Given the description of an element on the screen output the (x, y) to click on. 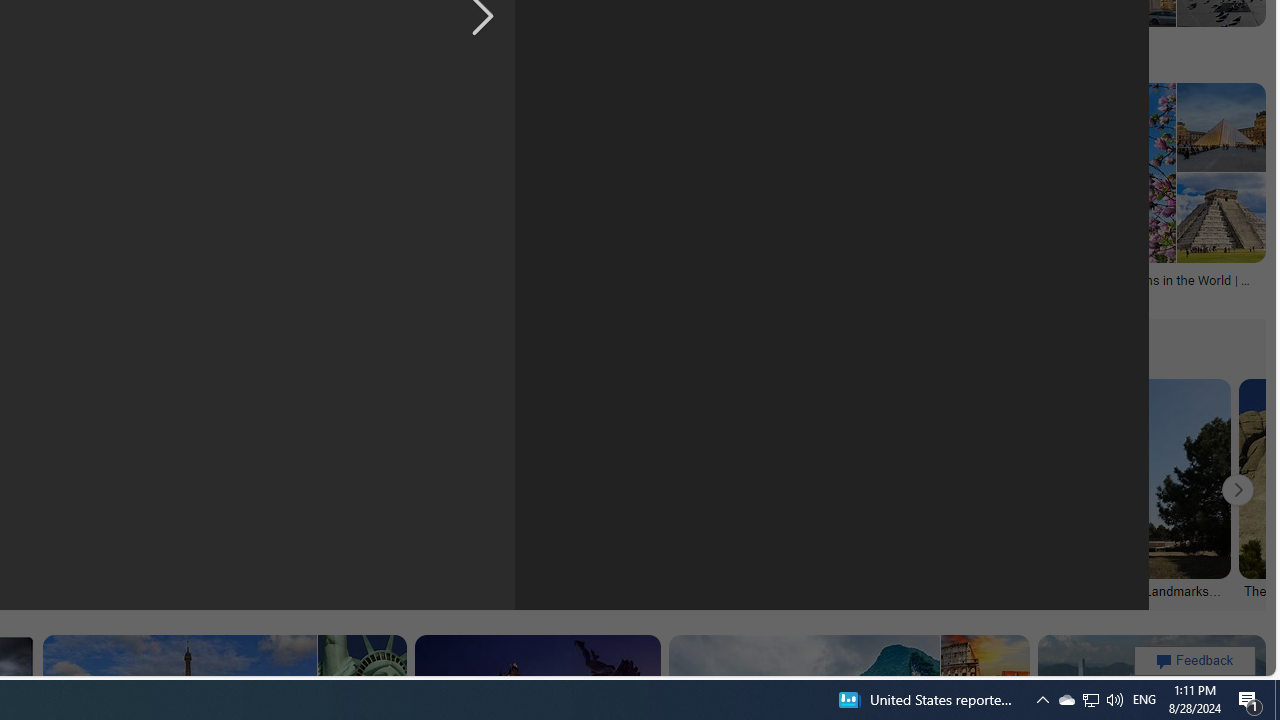
dubaiomg.com (228, 294)
farandwide.com (526, 295)
travelandleisure.com (817, 295)
Click to scroll right (1238, 489)
Top world's tourist places to visit (188, 44)
Top 10 Tourist Attractions in the World | Traveling Canucks (808, 50)
travelandleisure.com (744, 294)
20 Top-Rated Tourist Attractions in the World | PlanetWare (1115, 286)
travelingcanucks.com (808, 58)
